Given the description of an element on the screen output the (x, y) to click on. 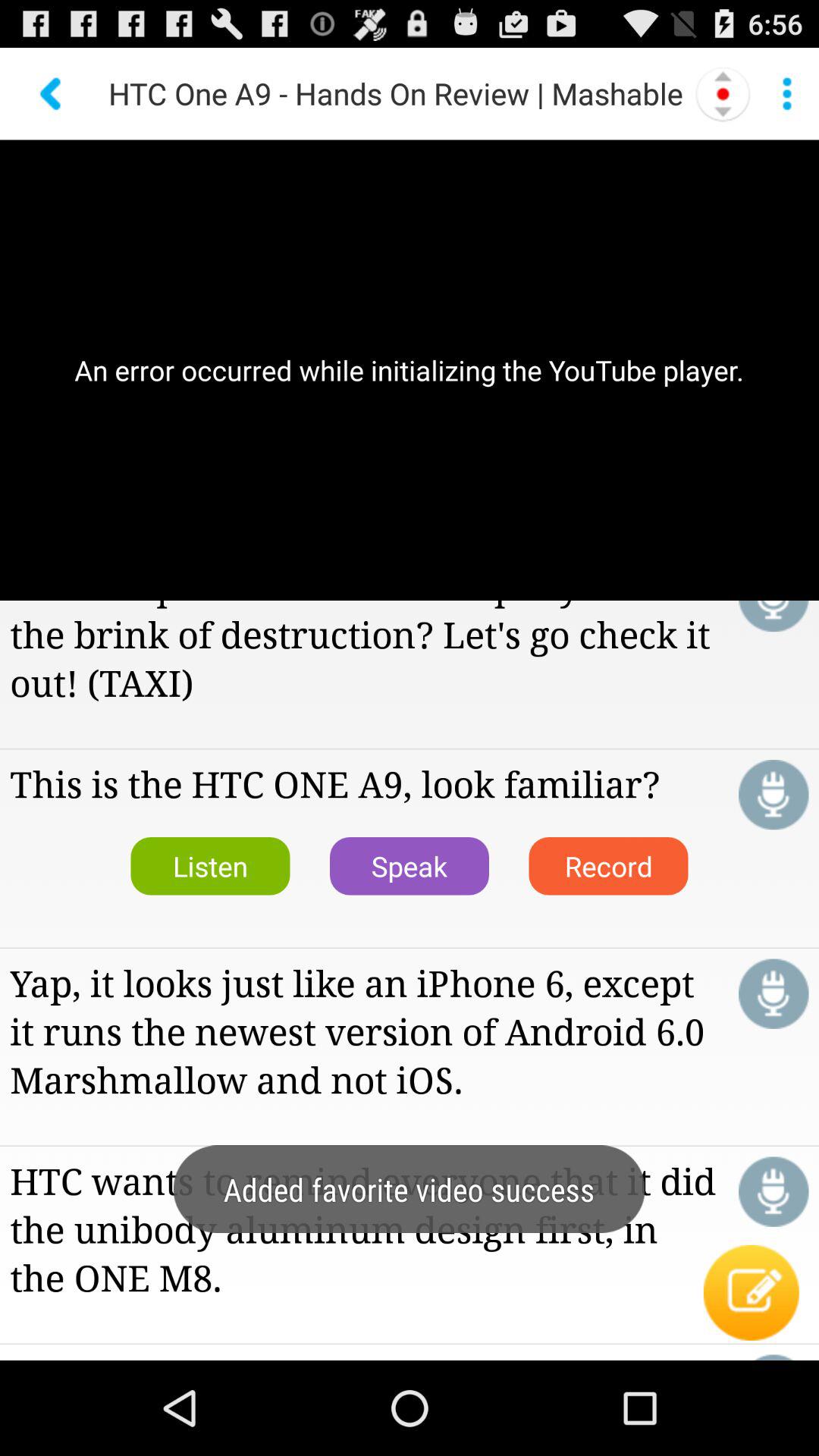
record the sentence (773, 993)
